Given the description of an element on the screen output the (x, y) to click on. 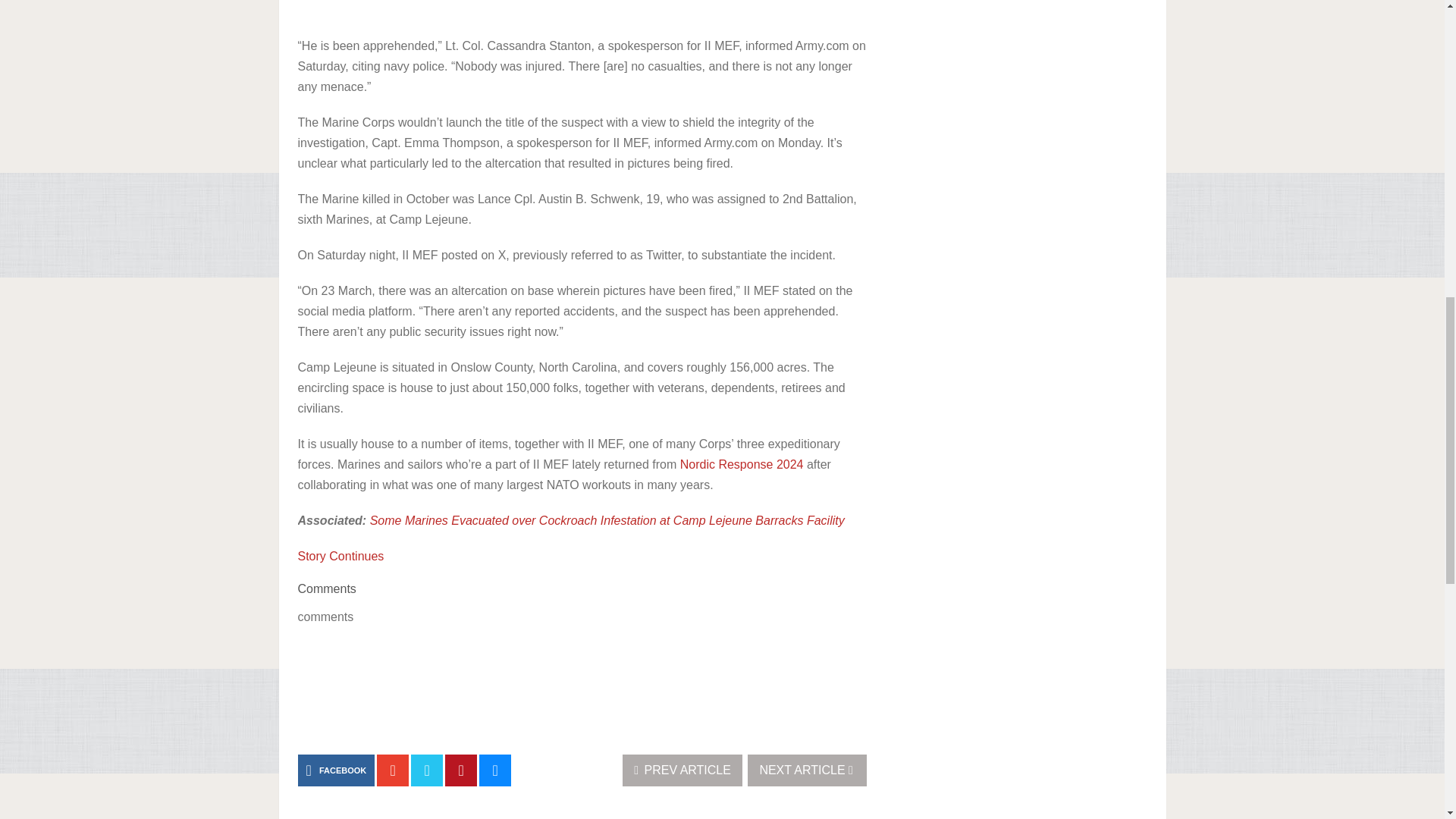
FACEBOOK (335, 770)
Story Continues (340, 555)
Nordic Response 2024 (741, 463)
